Given the description of an element on the screen output the (x, y) to click on. 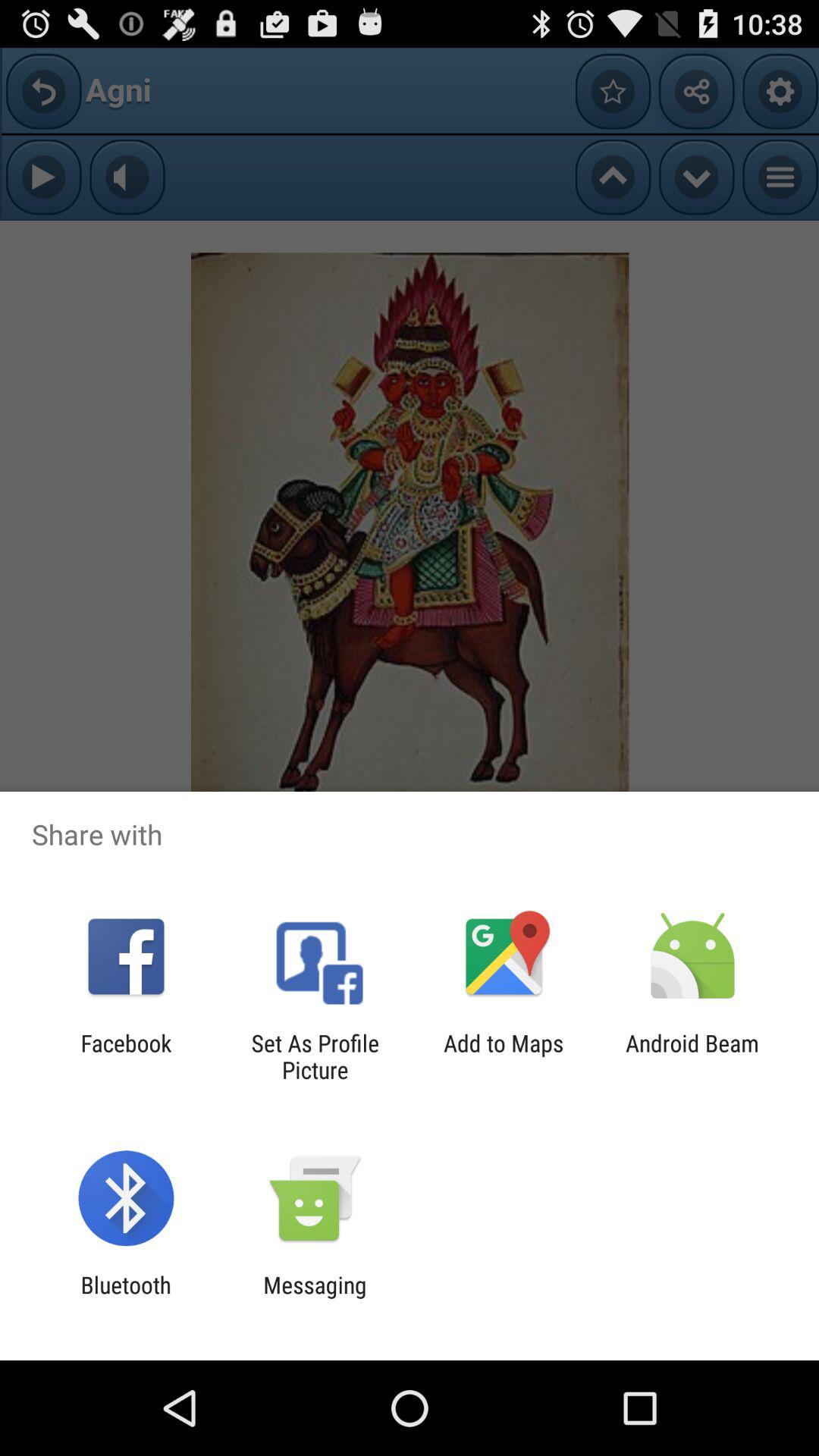
select the app to the right of the set as profile item (503, 1056)
